Given the description of an element on the screen output the (x, y) to click on. 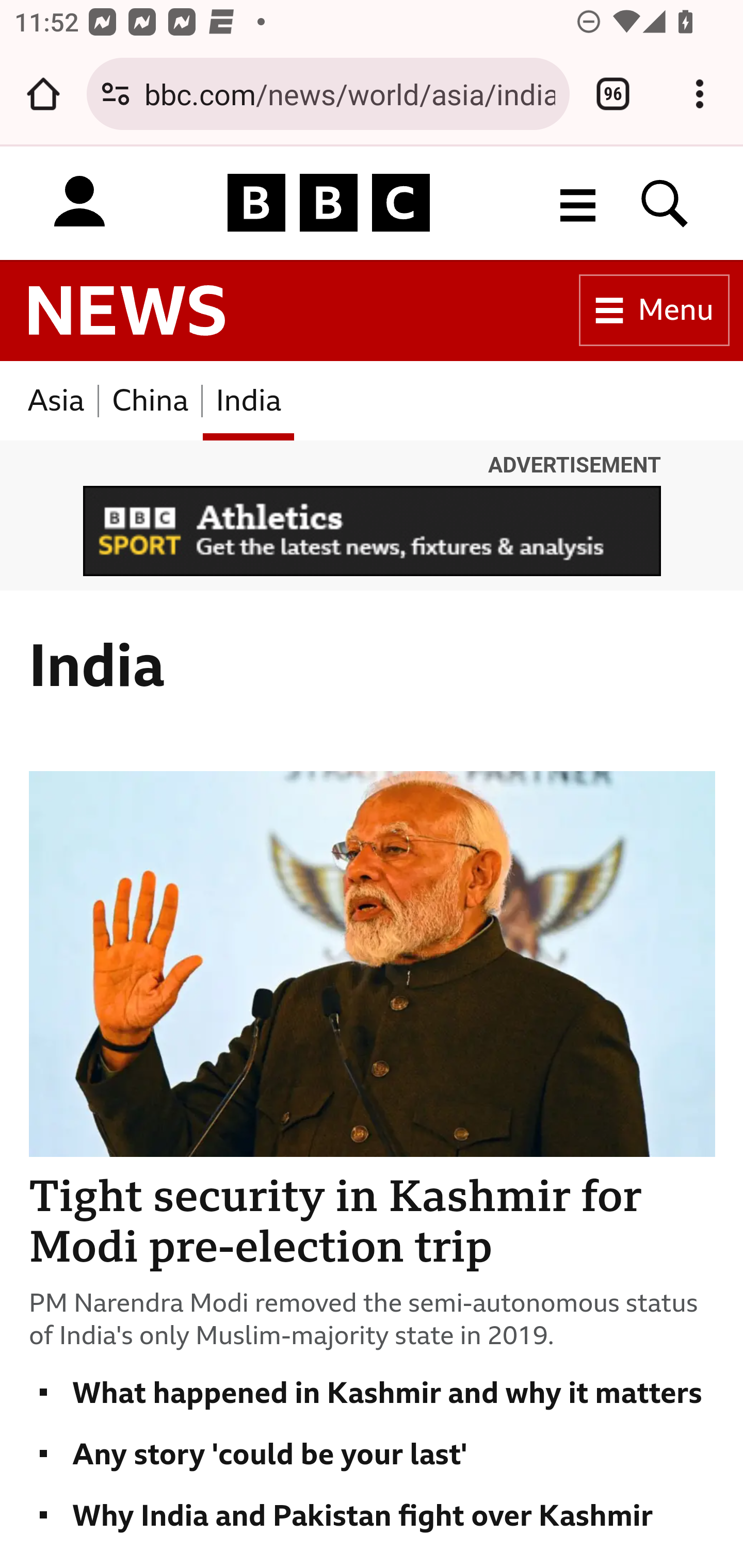
Open the home page (43, 93)
Connection is secure (115, 93)
Switch or close tabs (612, 93)
Customize and control Google Chrome (699, 93)
bbc.com/news/world/asia/india (349, 92)
Sign in (79, 202)
BBC Homepage (329, 202)
More menu (578, 202)
Search BBC (665, 202)
BBC News (126, 311)
Menu (654, 310)
Asia (56, 400)
China (150, 400)
India (249, 400)
What happened in Kashmir and why it matters (365, 1392)
Any story 'could be your last' (247, 1453)
Why India and Pakistan fight over Kashmir (340, 1515)
